Given the description of an element on the screen output the (x, y) to click on. 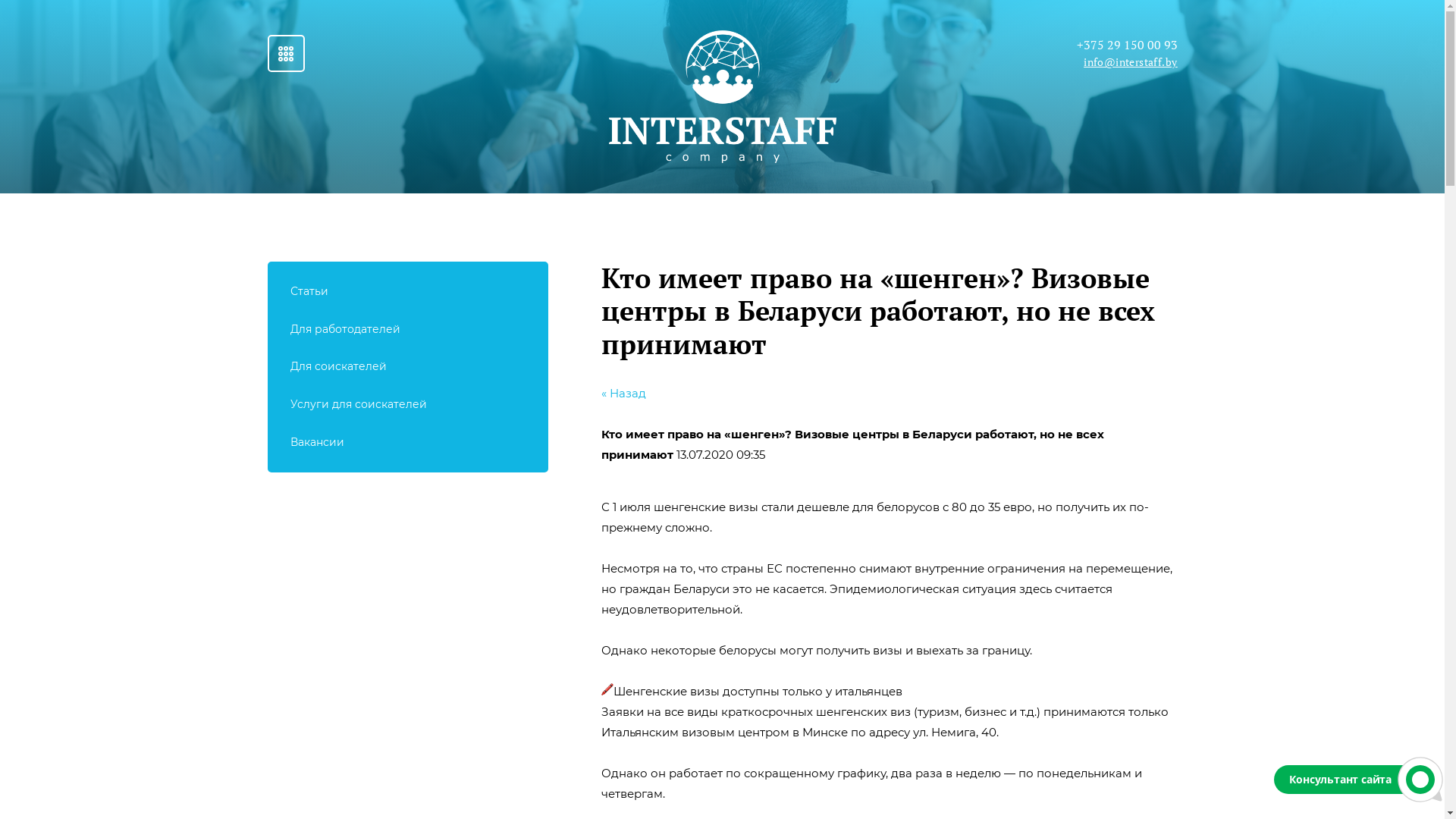
info@interstaff.by Element type: text (1129, 61)
+375 29 150 00 93 Element type: text (1126, 44)
... Element type: text (285, 53)
